Given the description of an element on the screen output the (x, y) to click on. 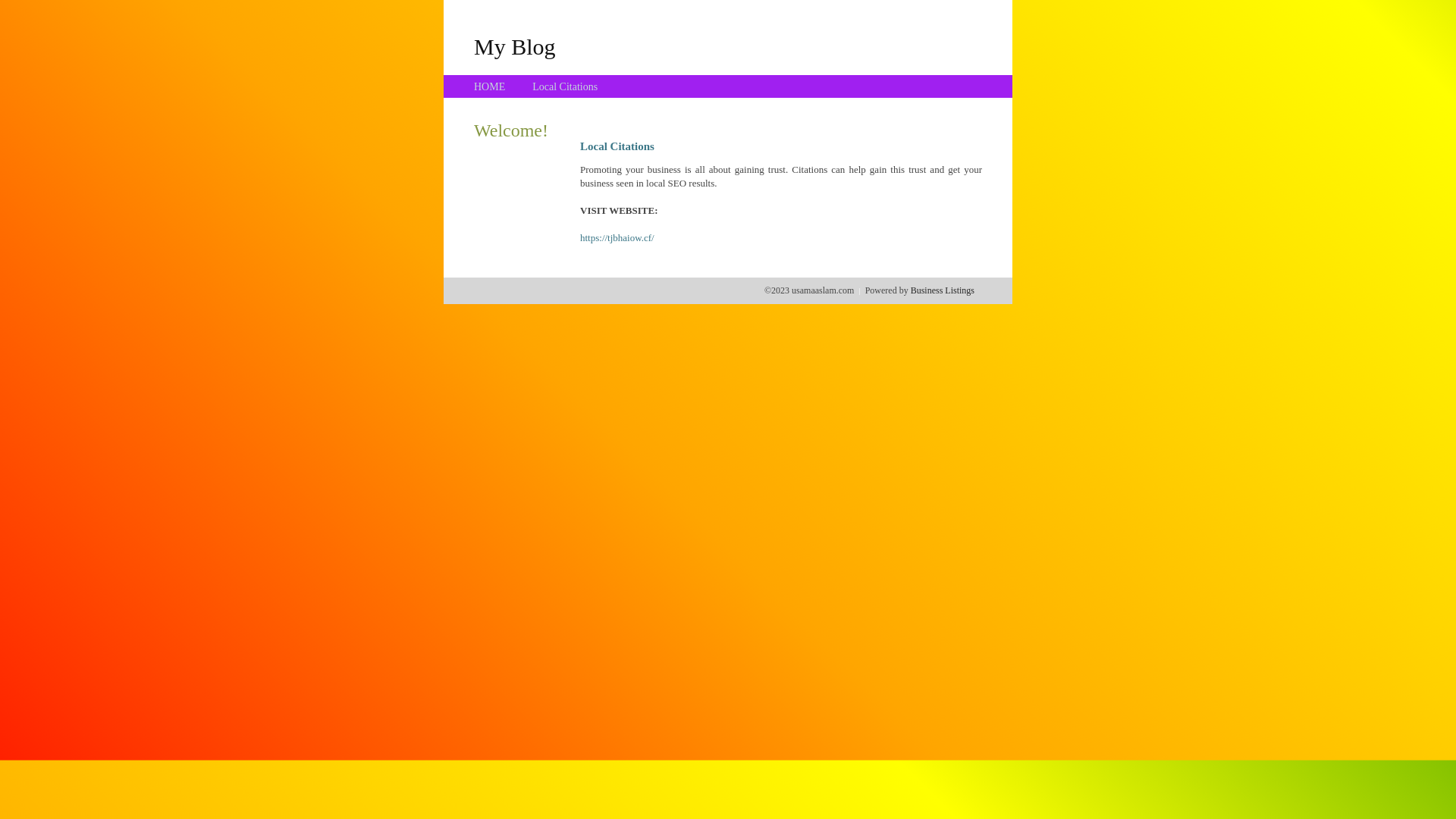
https://tjbhaiow.cf/ Element type: text (617, 237)
My Blog Element type: text (514, 46)
Local Citations Element type: text (564, 86)
Business Listings Element type: text (942, 290)
HOME Element type: text (489, 86)
